Given the description of an element on the screen output the (x, y) to click on. 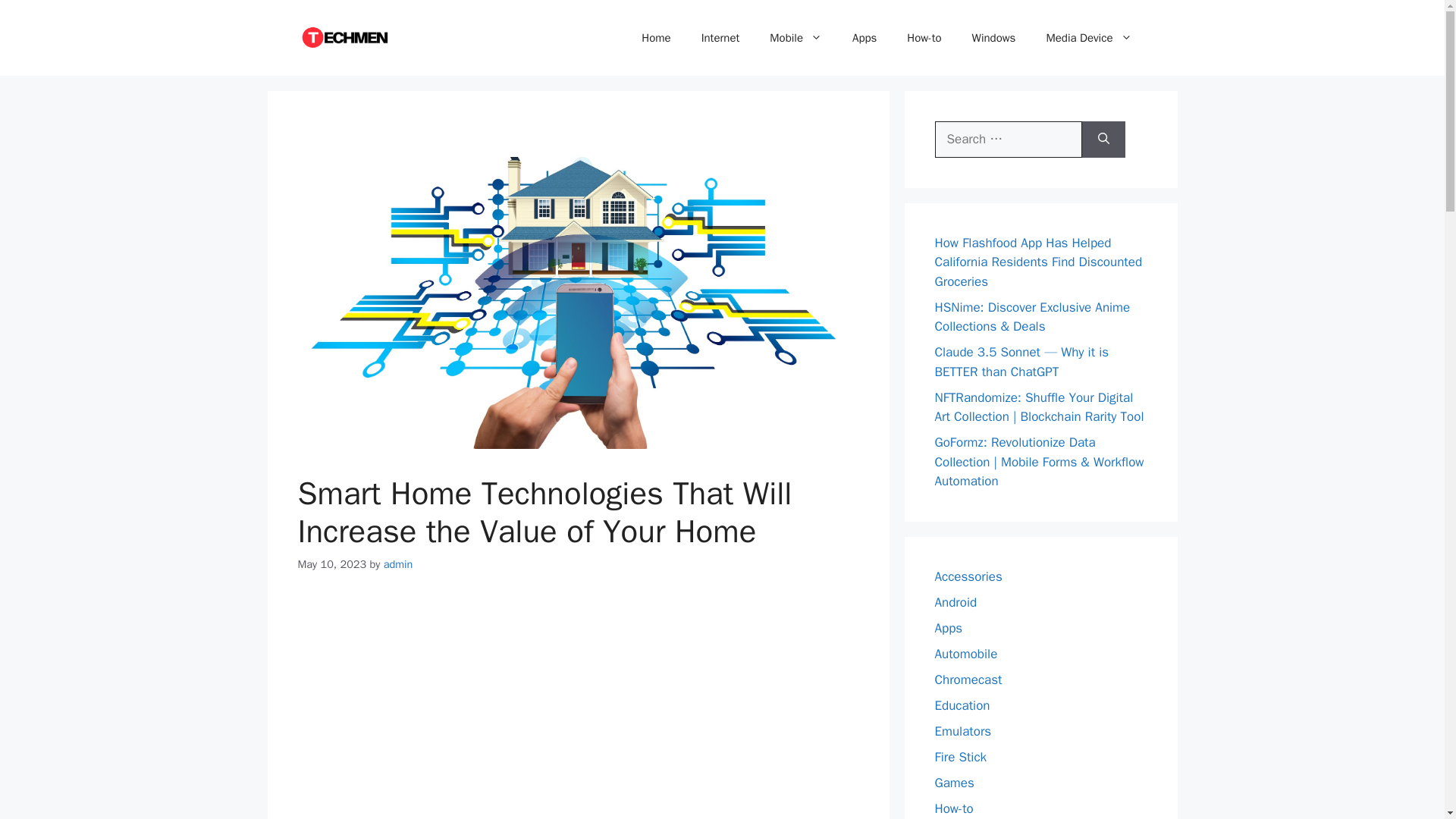
Automobile (965, 653)
Education (962, 705)
Chromecast (967, 679)
Apps (948, 627)
Emulators (962, 731)
How-to (923, 37)
Advertisement (578, 704)
Internet (720, 37)
View all posts by admin (398, 563)
Media Device (1088, 37)
Home (655, 37)
admin (398, 563)
Accessories (967, 576)
Windows (993, 37)
